Given the description of an element on the screen output the (x, y) to click on. 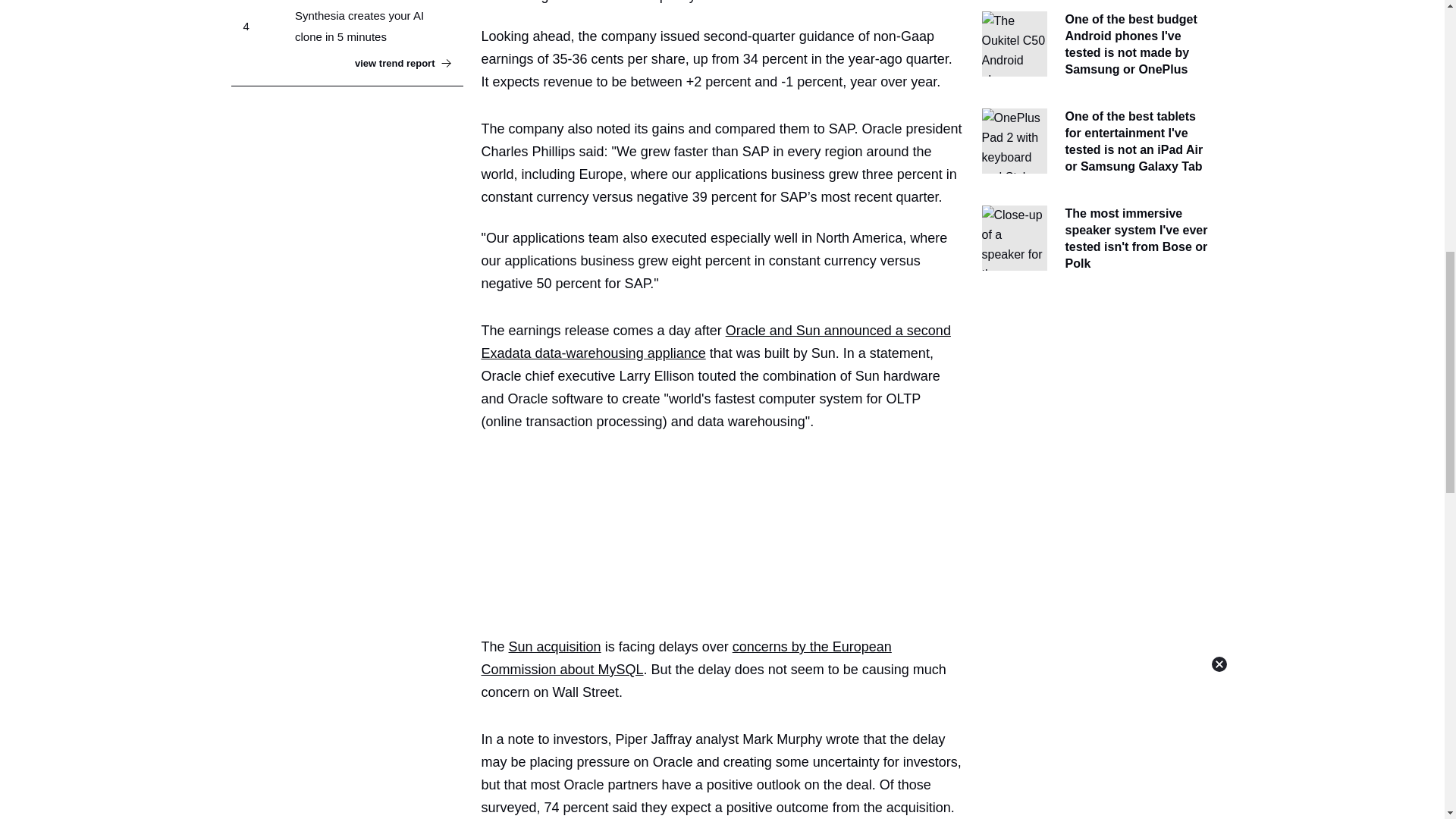
Oracle taps into Sun tech for faster Exadata (715, 341)
EU deepens its probe into Oracle-Sun deal (685, 658)
